Given the description of an element on the screen output the (x, y) to click on. 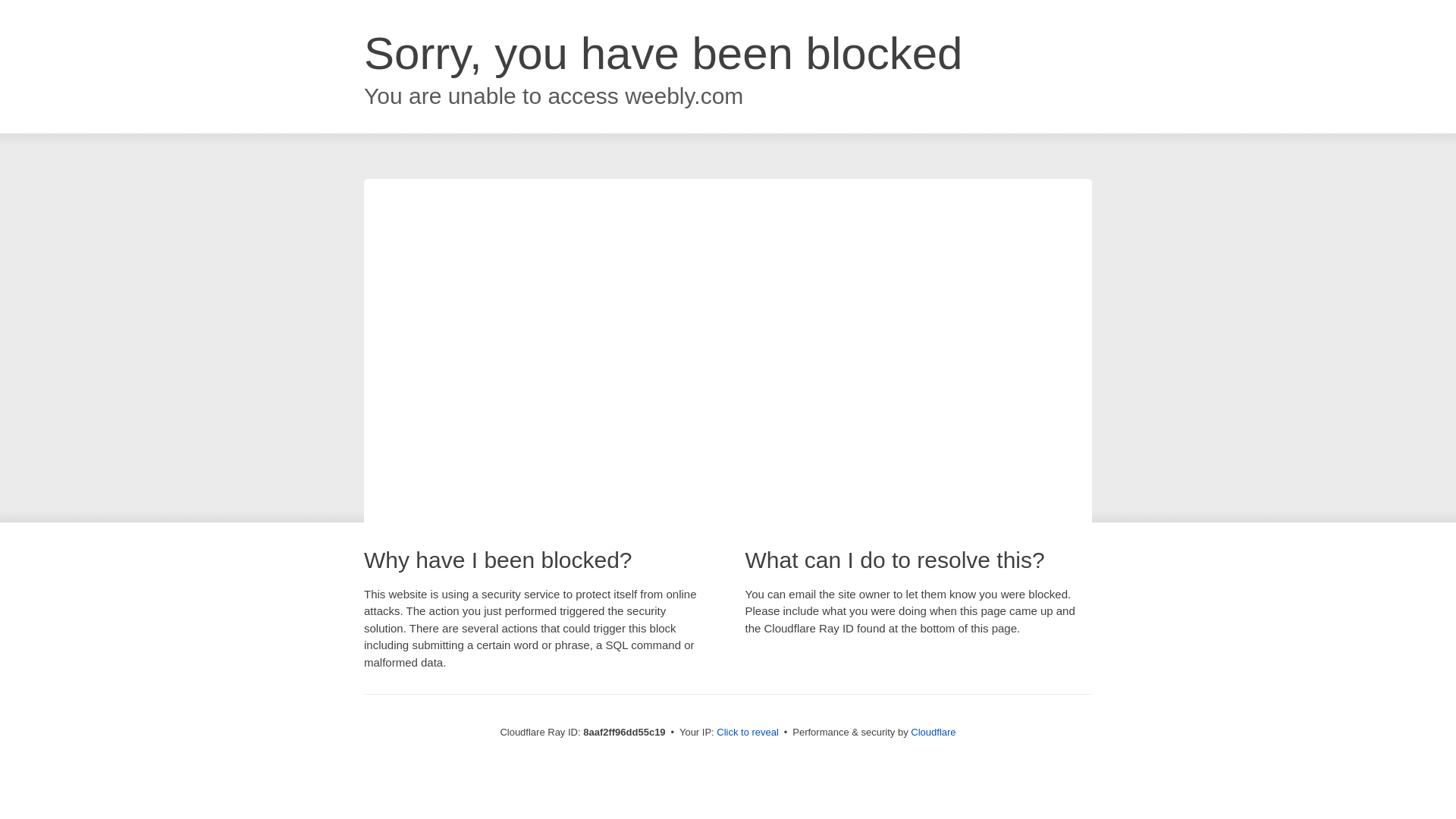
Click to reveal (747, 732)
Cloudflare (933, 731)
